Given the description of an element on the screen output the (x, y) to click on. 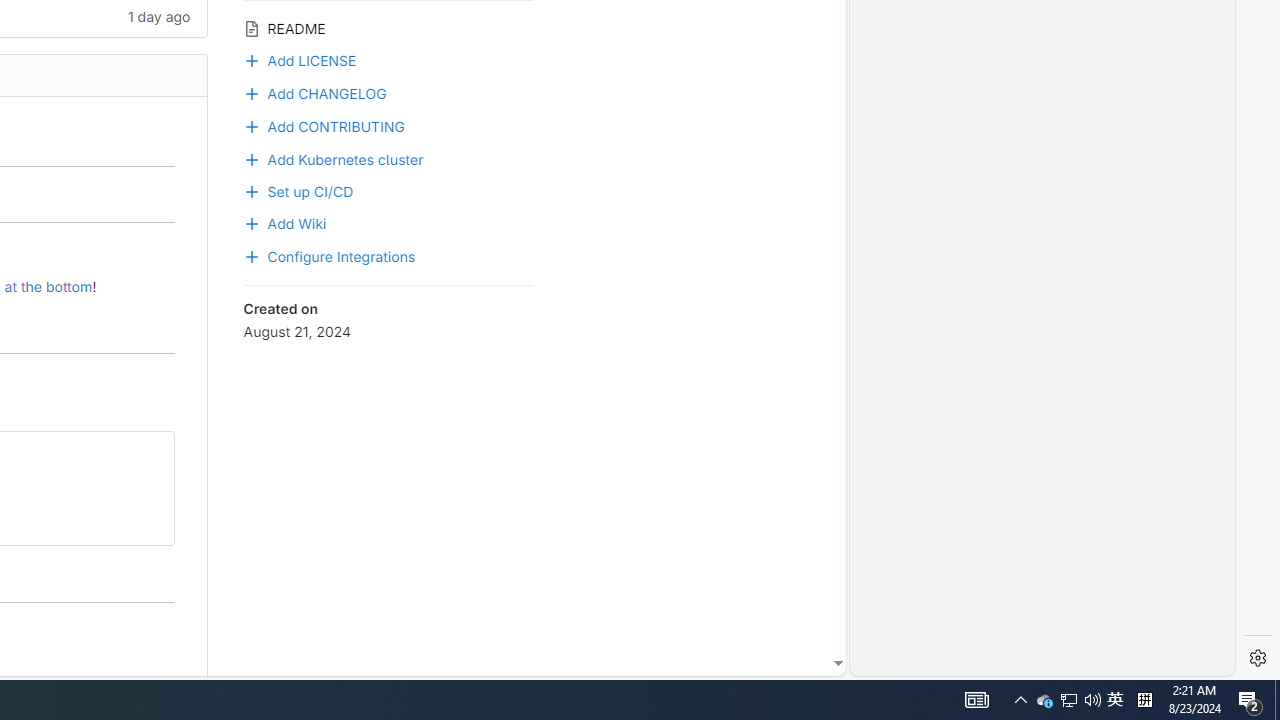
Add CHANGELOG (314, 91)
Add Kubernetes cluster (387, 158)
Add CONTRIBUTING (387, 124)
Add LICENSE (300, 58)
Set up CI/CD (387, 189)
Class: s16 gl-text-blue-500! gl-mr-3 (251, 126)
Add Wiki (387, 222)
Add Kubernetes cluster (333, 158)
Add LICENSE (387, 59)
README (387, 26)
README (387, 26)
Class: s16 gl-blue-500! gl-mr-3 (251, 256)
Class: s16 gl-mr-3 (251, 223)
